Given the description of an element on the screen output the (x, y) to click on. 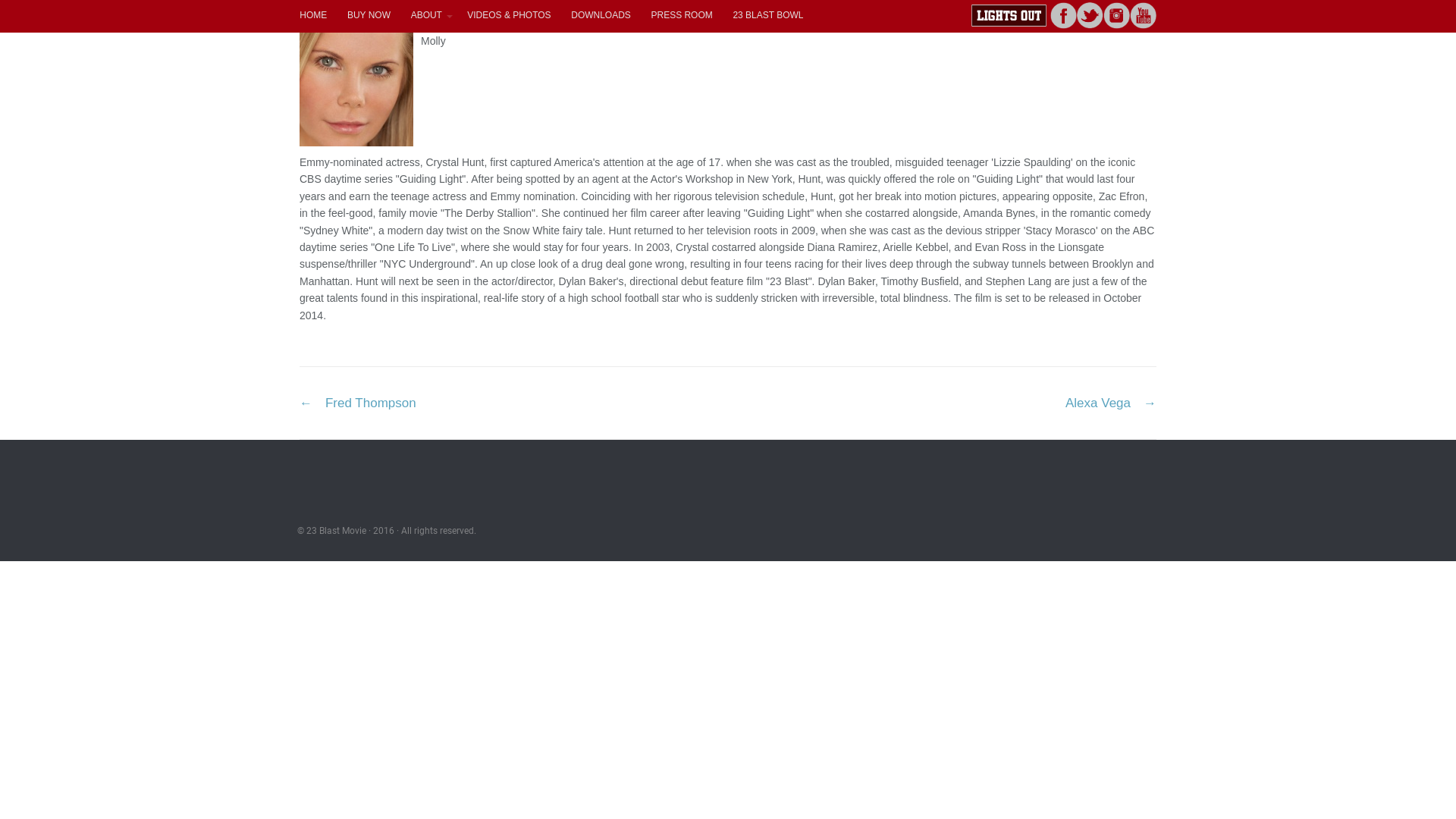
DOWNLOADS Element type: text (600, 15)
VIDEOS & PHOTOS Element type: text (509, 15)
PRESS ROOM Element type: text (681, 15)
BUY NOW Element type: text (369, 15)
HOME Element type: text (313, 15)
ABOUT Element type: text (428, 15)
23 BLAST BOWL Element type: text (767, 15)
